Given the description of an element on the screen output the (x, y) to click on. 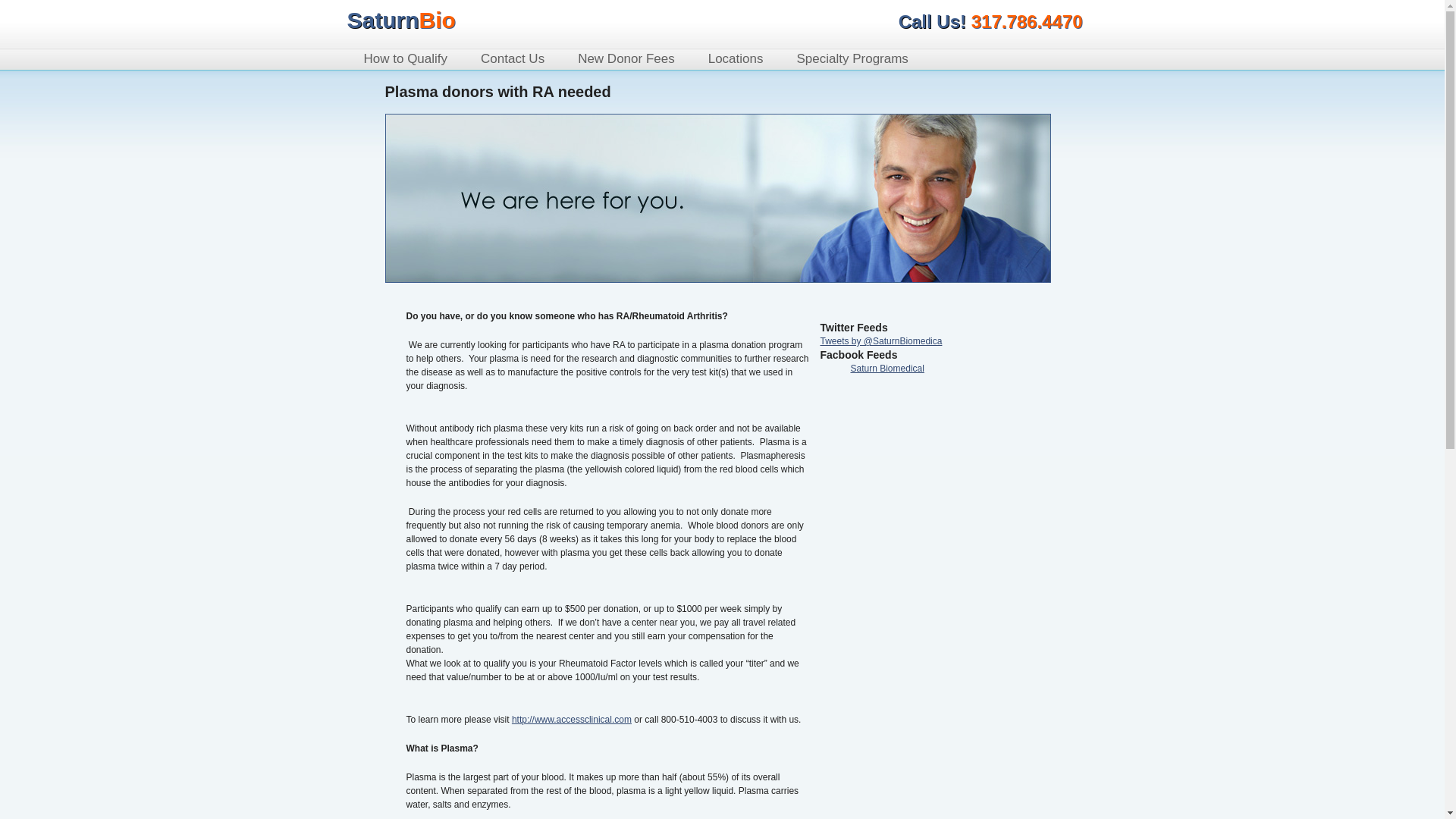
Specialty Programs (851, 59)
Locations (735, 59)
Saturn Biomedical (887, 368)
SaturnBio (401, 19)
Saturn Biomedical (401, 19)
How to Qualify (405, 59)
New Donor Fees (625, 59)
Contact Us (512, 59)
